Given the description of an element on the screen output the (x, y) to click on. 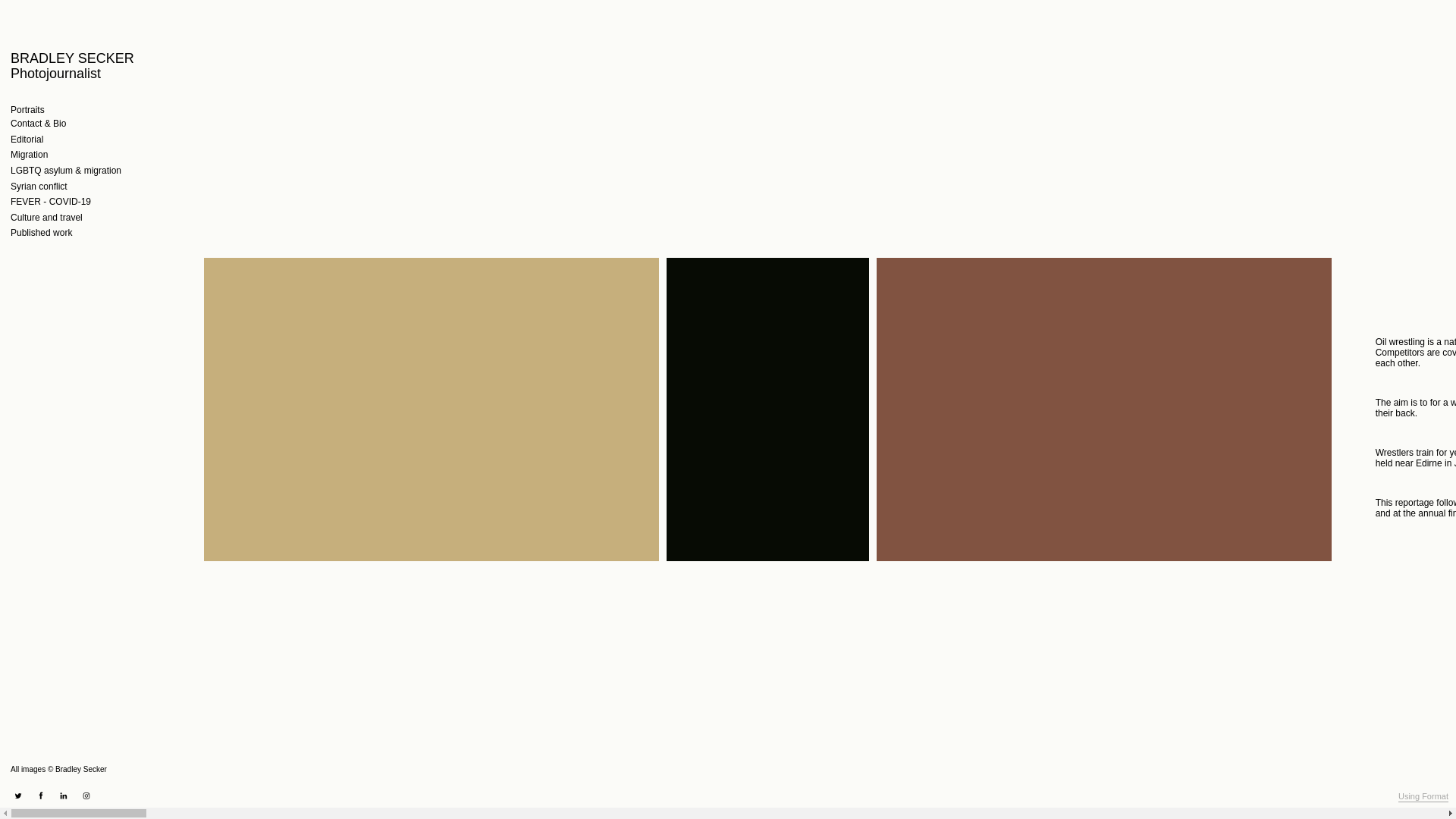
Facebook (40, 795)
Portraits (27, 110)
Culture and travel (46, 218)
Twitter (18, 795)
Editorial (26, 140)
Instagram (86, 795)
LinkedIn (63, 795)
FEVER - COVID-19 (50, 202)
Published work (40, 233)
Syrian conflict (38, 186)
